Given the description of an element on the screen output the (x, y) to click on. 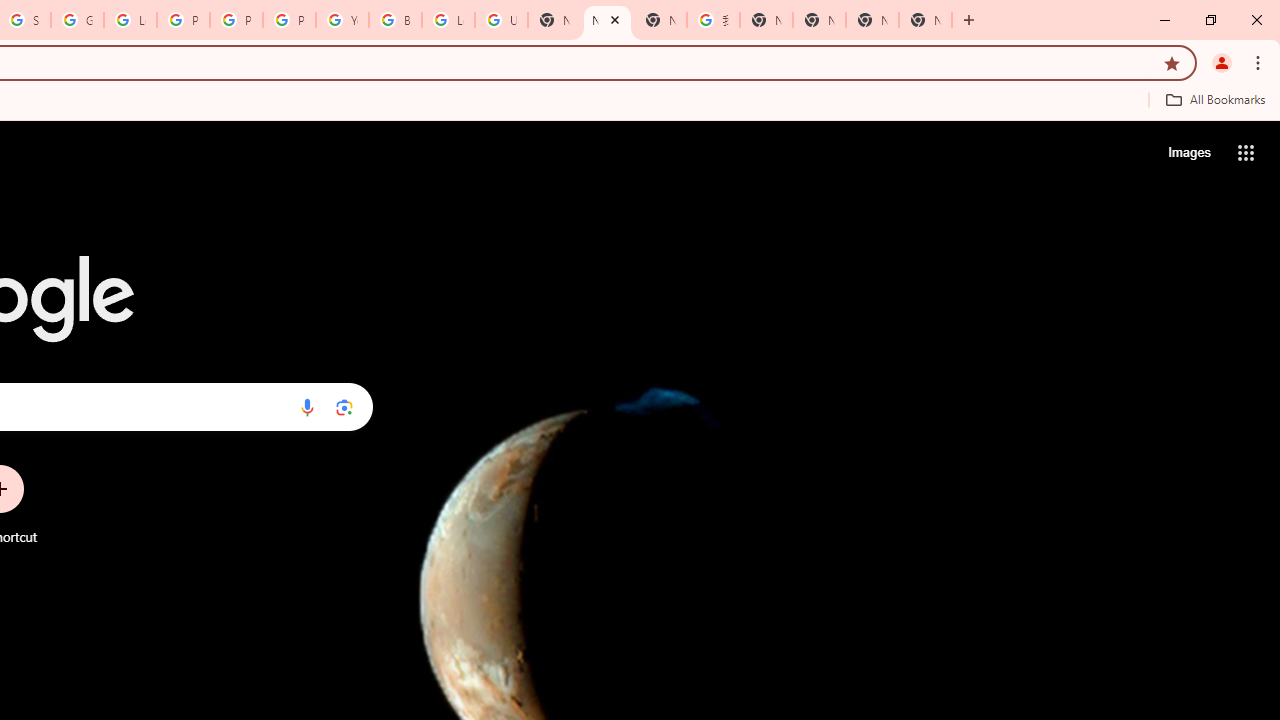
Privacy Help Center - Policies Help (235, 20)
Privacy Help Center - Policies Help (183, 20)
Search for Images  (1188, 152)
New Tab (925, 20)
